Given the description of an element on the screen output the (x, y) to click on. 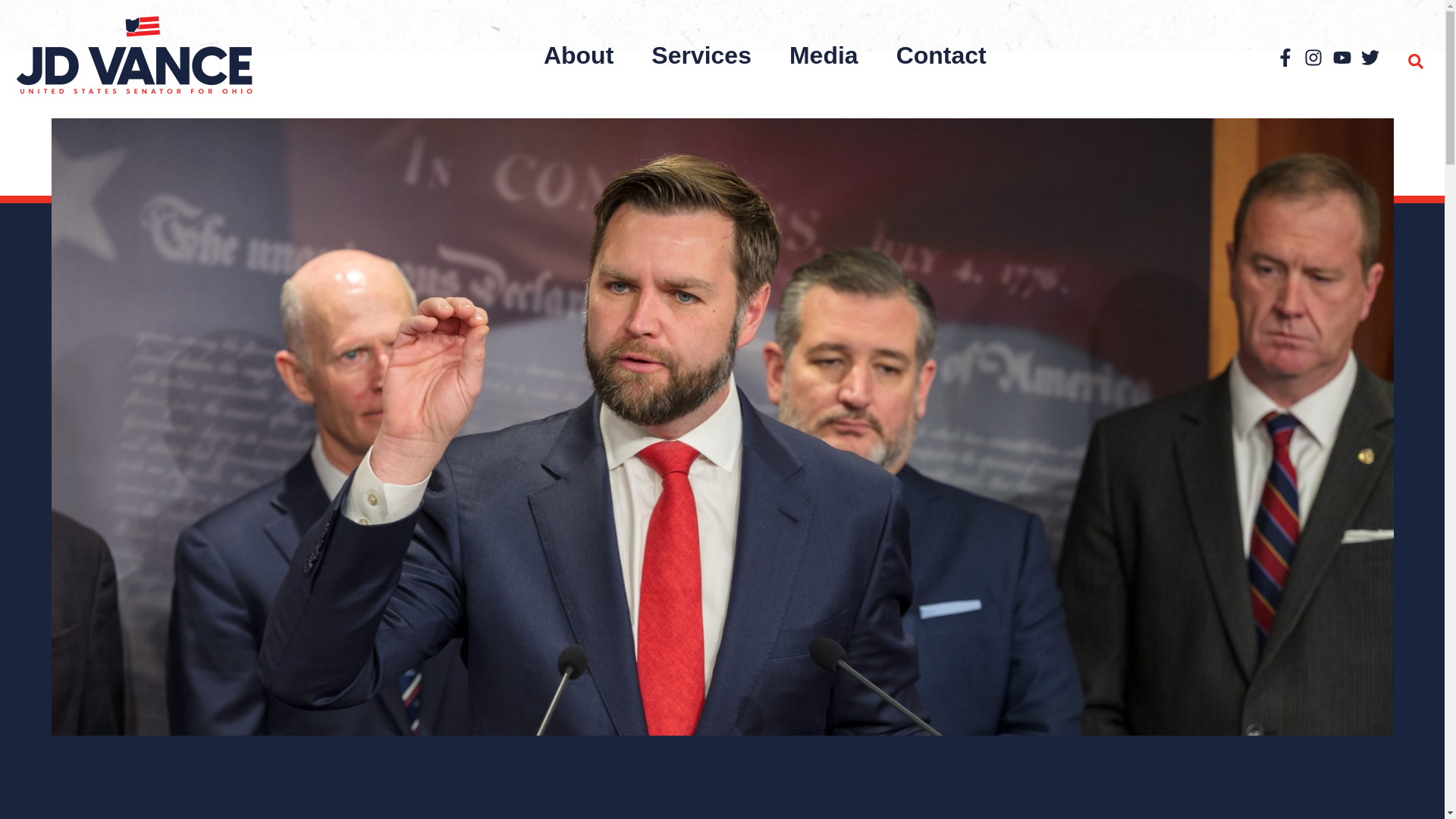
Media (823, 54)
Contact (940, 54)
About (578, 54)
Services (701, 54)
Logo Color (133, 55)
